Given the description of an element on the screen output the (x, y) to click on. 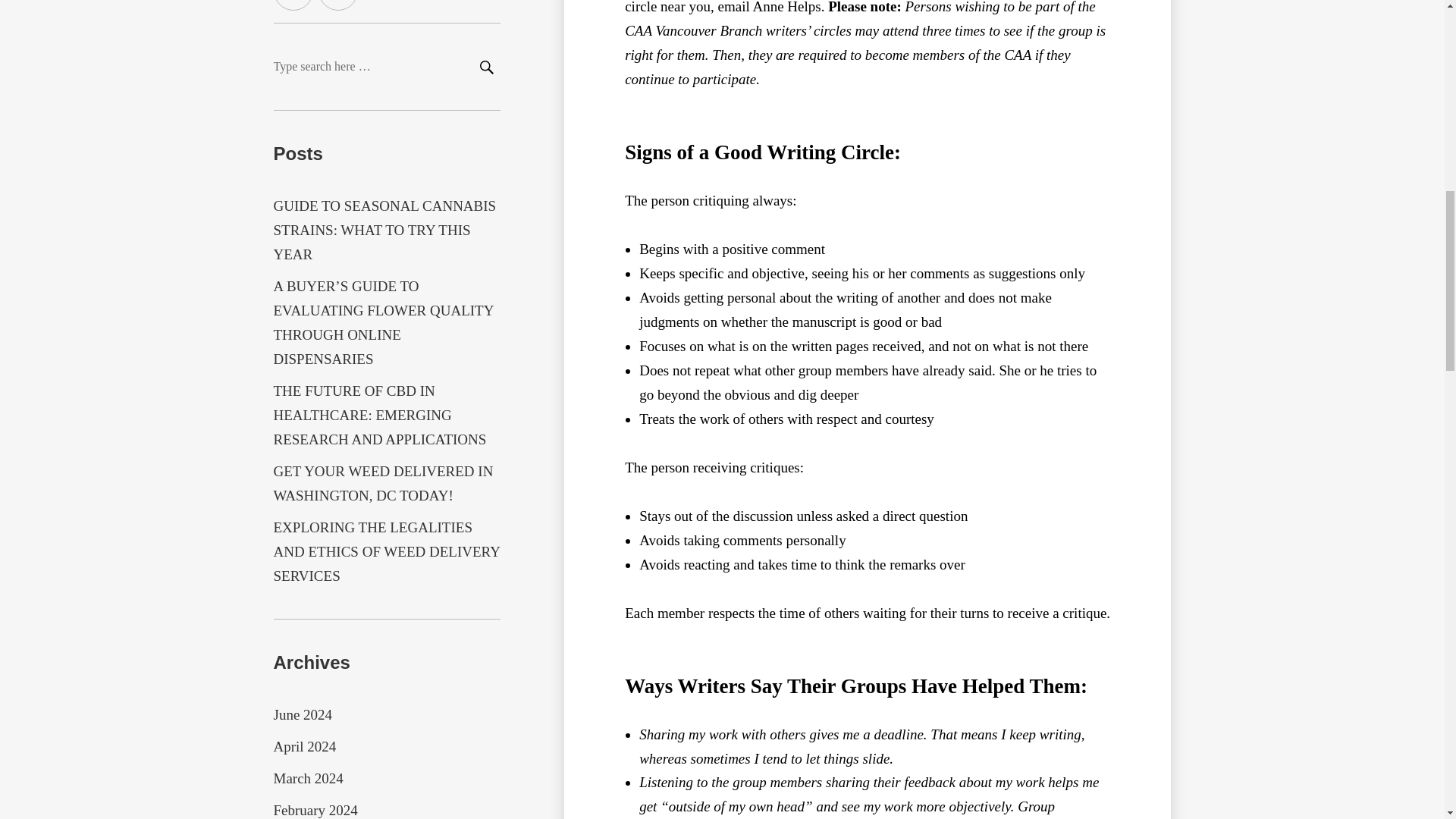
April 2024 (304, 746)
Contact (338, 5)
GET YOUR WEED DELIVERED IN WASHINGTON, DC TODAY!  (383, 483)
June 2024 (302, 714)
Search (485, 68)
Blog (293, 5)
March 2024 (307, 778)
GUIDE TO SEASONAL CANNABIS STRAINS: WHAT TO TRY THIS YEAR  (384, 230)
February 2024 (314, 810)
